Given the description of an element on the screen output the (x, y) to click on. 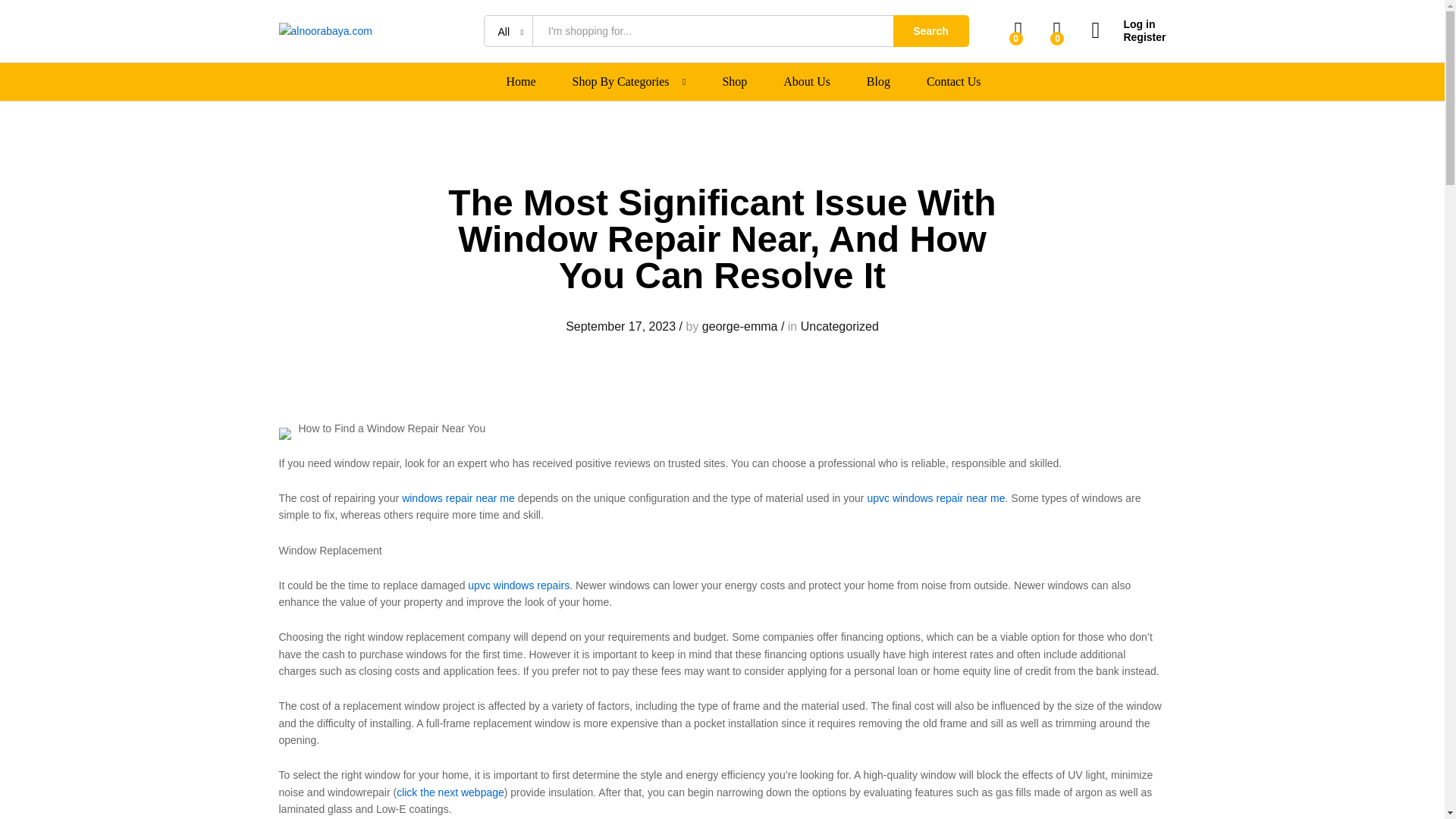
windows repair near me (458, 498)
September 17, 2023 (620, 326)
upvc windows repair near me (935, 498)
Search (931, 30)
upvc windows repairs (518, 585)
Blog (877, 81)
Shop (734, 81)
Log in (1128, 24)
Shop By Categories (620, 81)
Uncategorized (839, 326)
george-emma (739, 326)
0 (1018, 30)
click the next webpage (449, 792)
Home (520, 81)
0 (1056, 30)
